Given the description of an element on the screen output the (x, y) to click on. 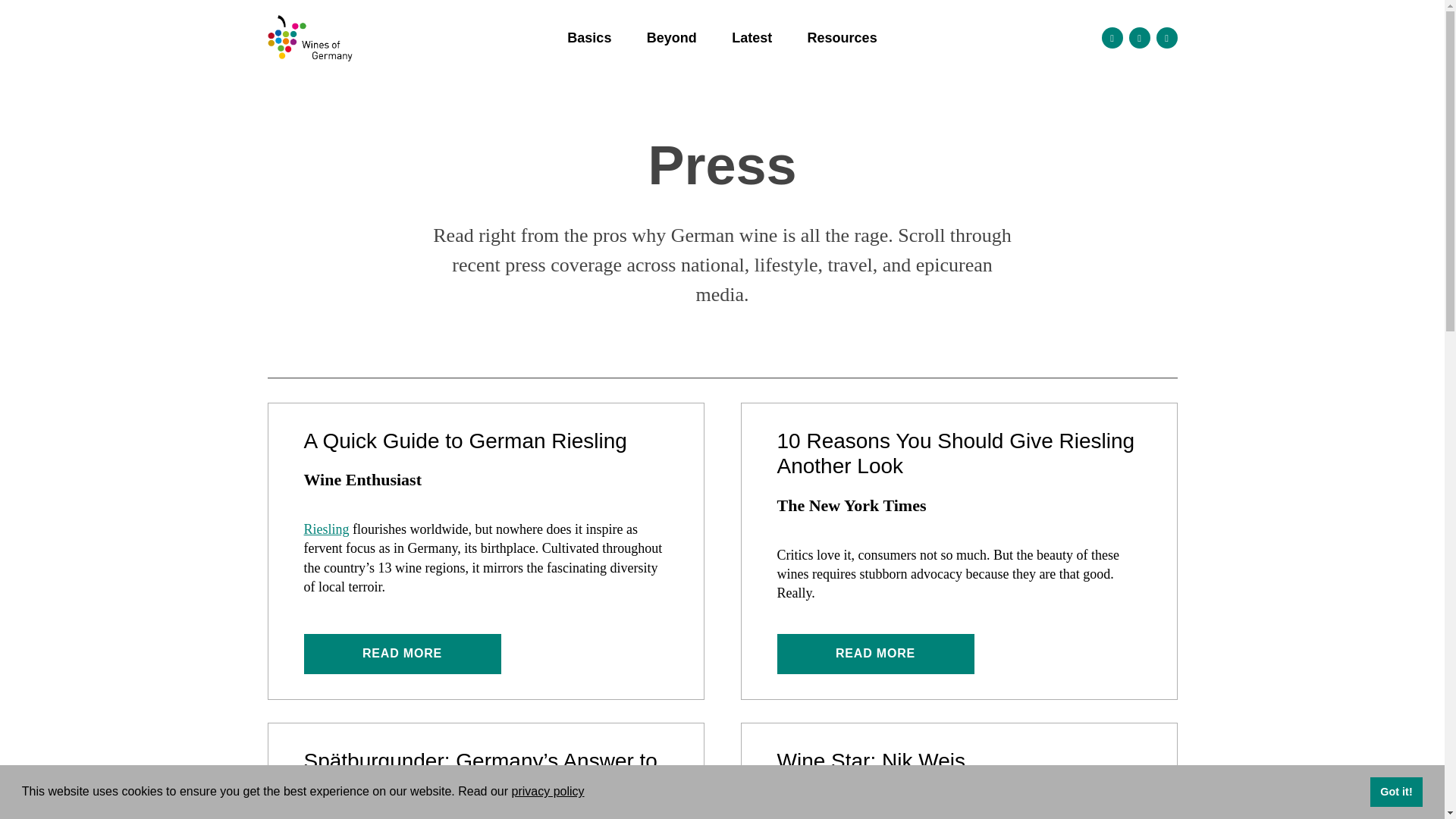
German Wines USA (357, 38)
Latest (751, 38)
Got it! (1396, 791)
Basics (588, 38)
Beyond (671, 38)
privacy policy (547, 790)
Resources (842, 38)
